Given the description of an element on the screen output the (x, y) to click on. 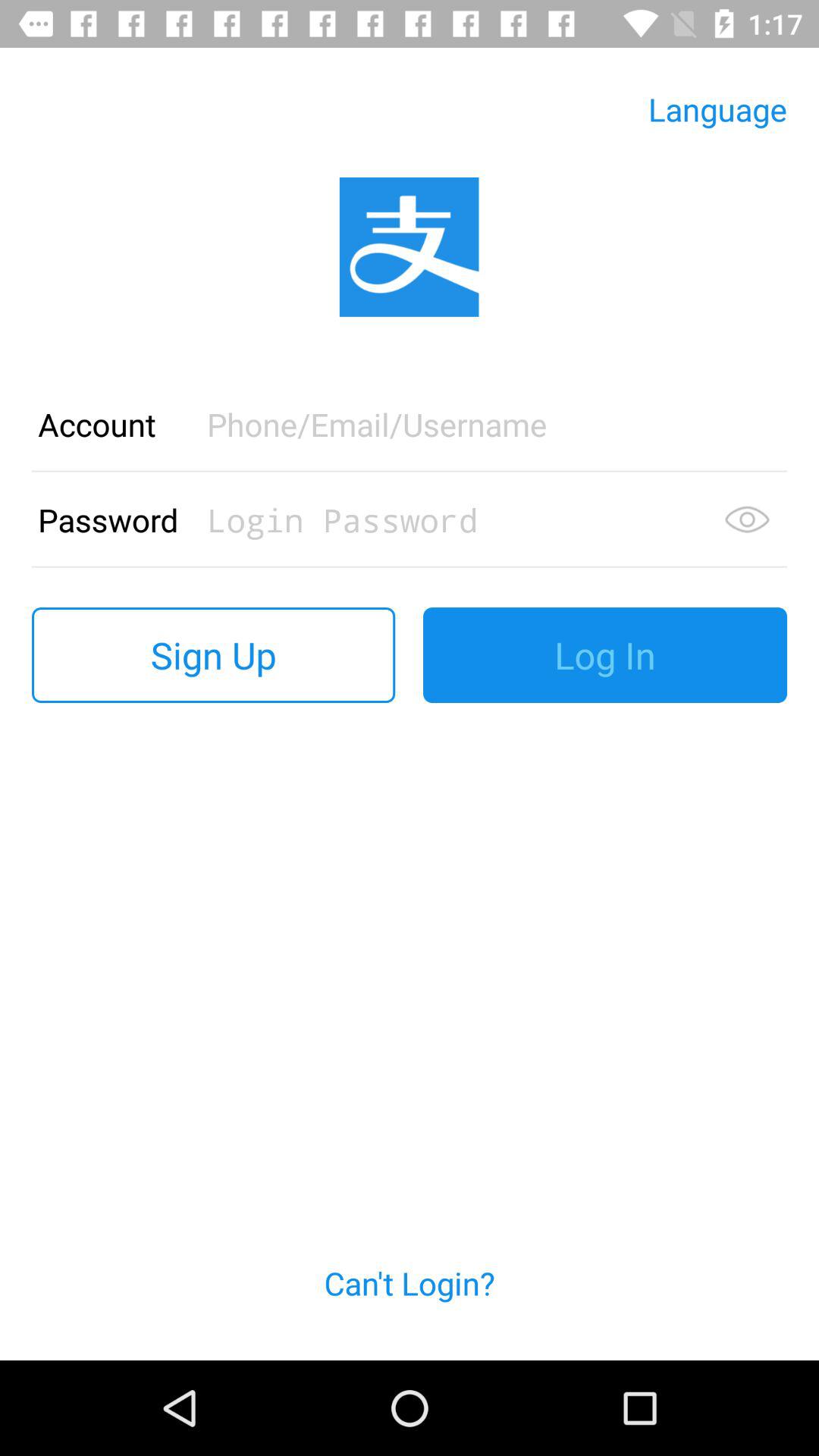
press the language at the top right corner (717, 108)
